Given the description of an element on the screen output the (x, y) to click on. 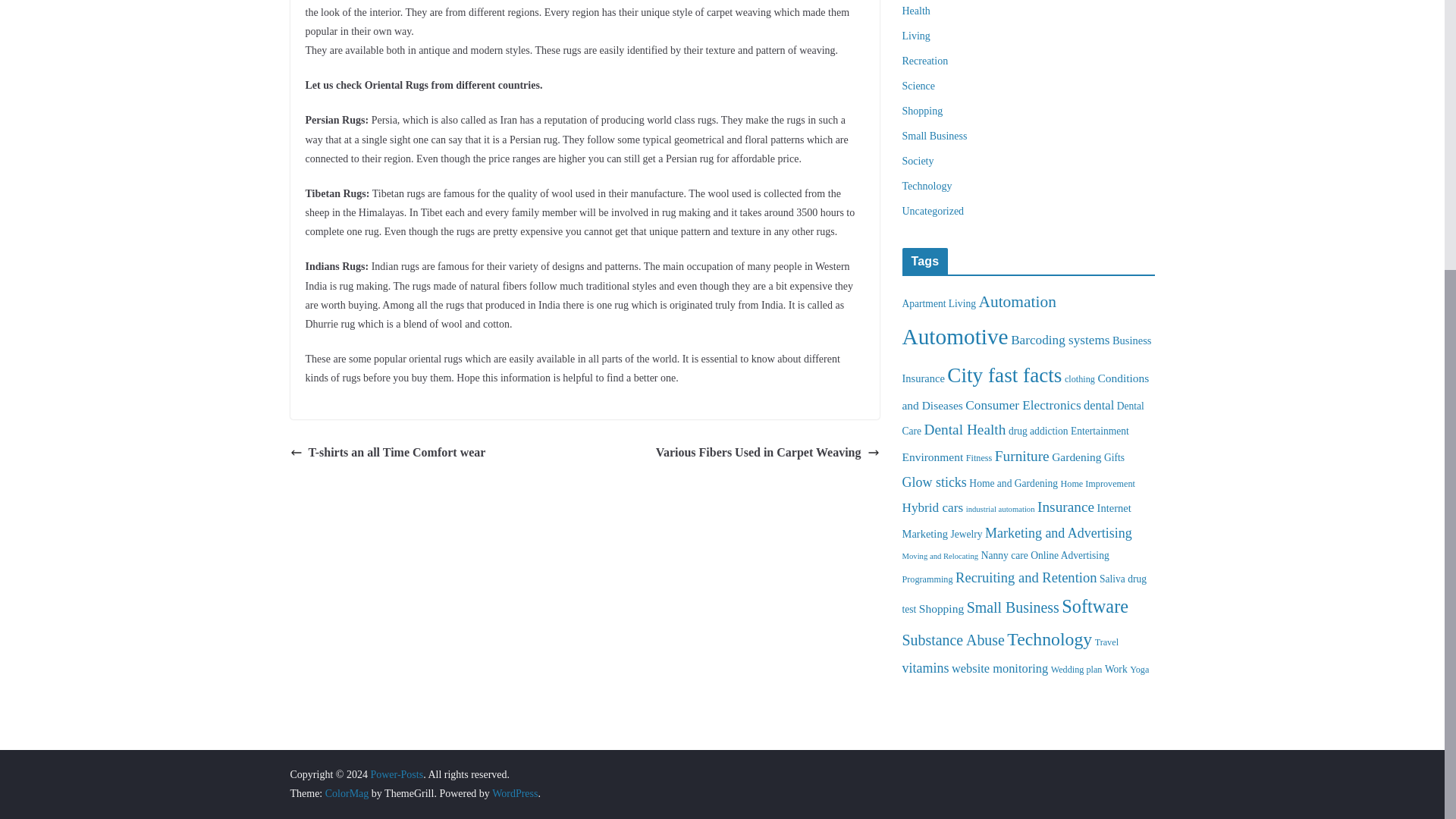
Automation (1016, 301)
Various Fibers Used in Carpet Weaving (767, 453)
Business Insurance (1026, 359)
Power-Posts (396, 774)
clothing (1079, 378)
dental (1098, 405)
Living (916, 35)
Shopping (922, 111)
Dental Care (1023, 418)
Health (916, 10)
